Given the description of an element on the screen output the (x, y) to click on. 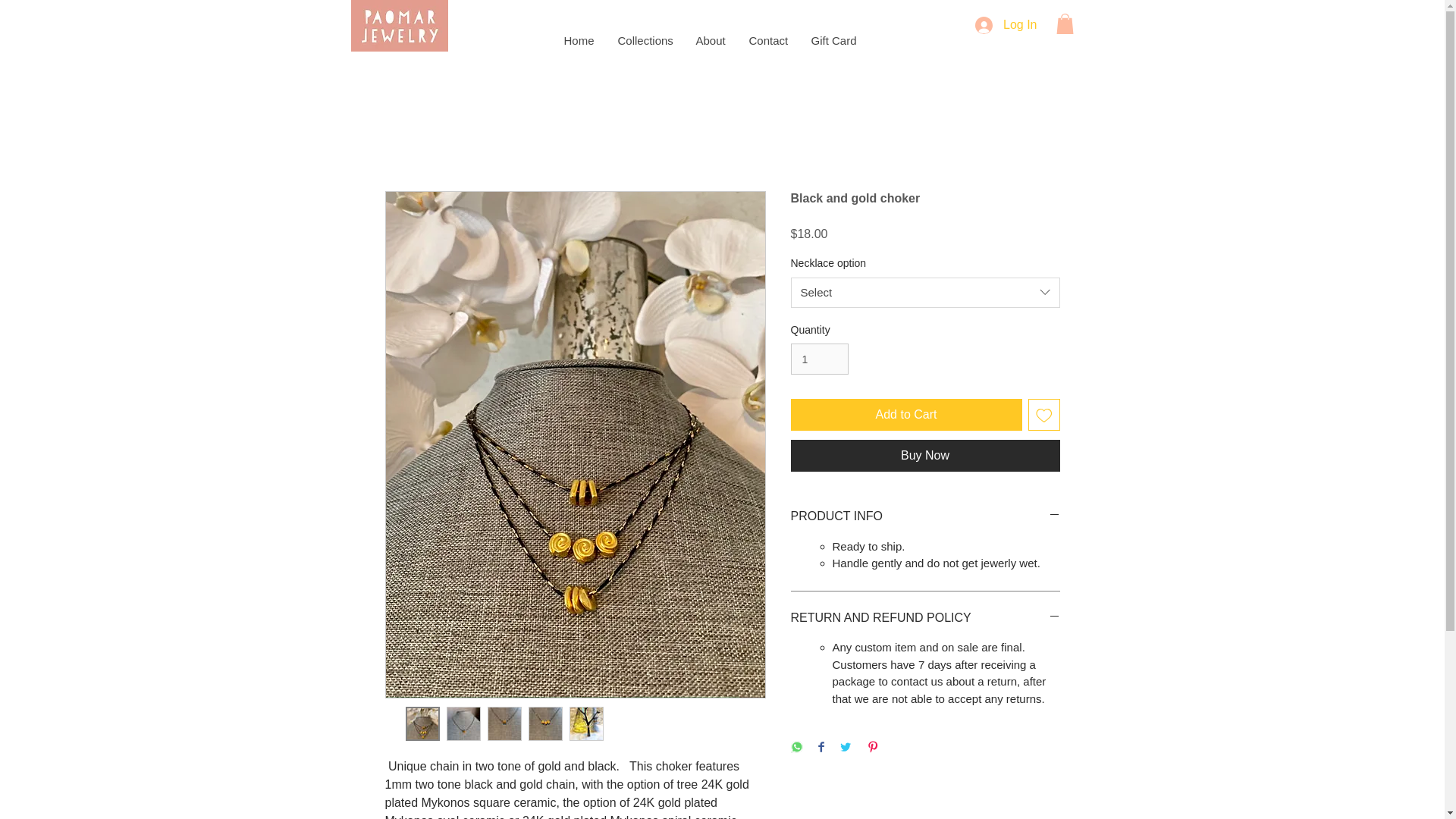
Collections (643, 40)
Gift Card (833, 40)
Home (578, 40)
RETURN AND REFUND POLICY (924, 617)
Add to Cart (906, 414)
Select (924, 292)
PRODUCT INFO (924, 515)
Log In (1004, 25)
Buy Now (924, 455)
About (710, 40)
1 (818, 358)
Contact (767, 40)
